Given the description of an element on the screen output the (x, y) to click on. 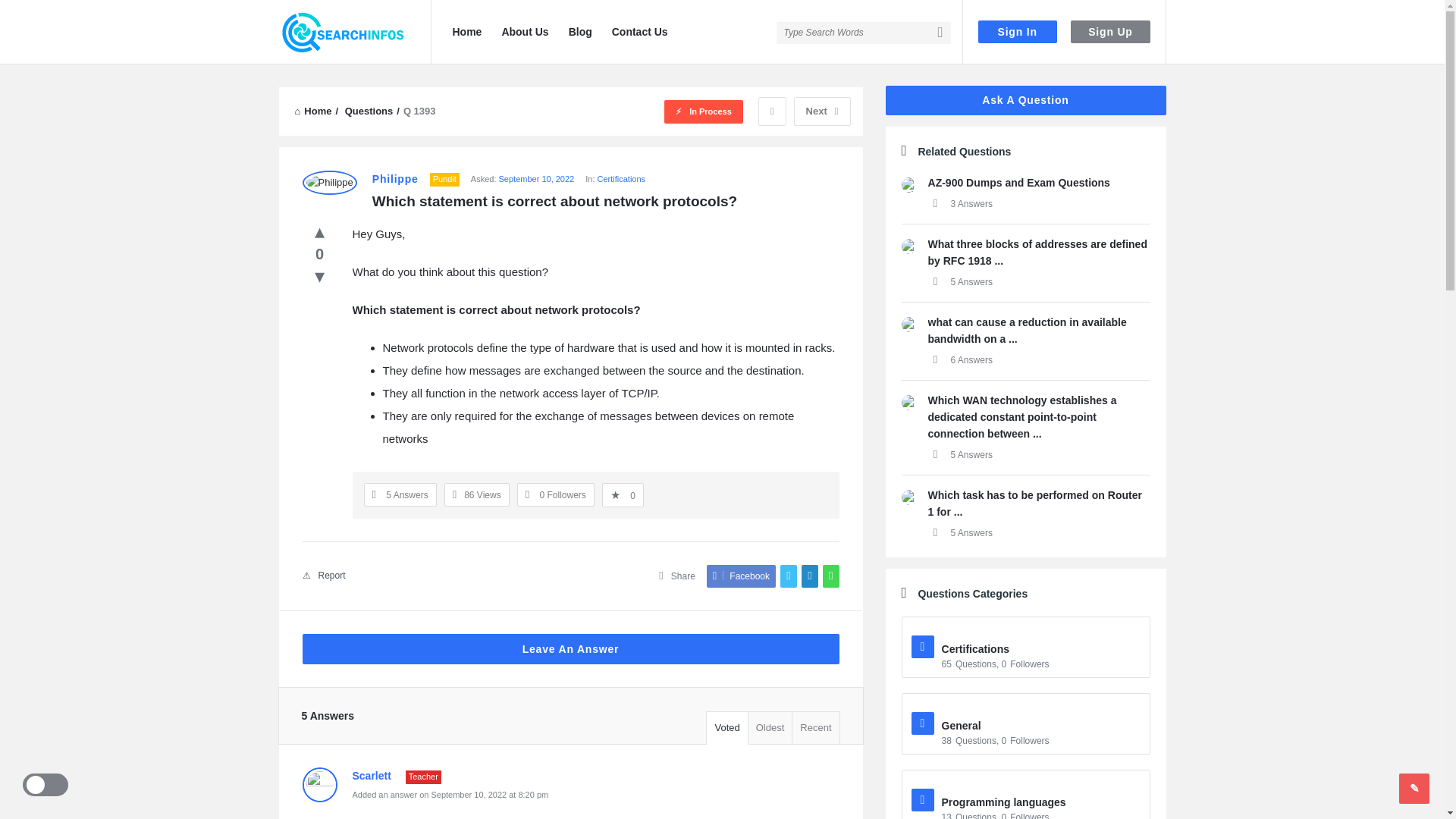
Blog (580, 32)
Questions (369, 111)
Questions (369, 111)
Search infos (342, 32)
Home (466, 32)
Sign Up (1110, 31)
Home (312, 111)
Follow the question (555, 494)
About Us (524, 32)
Contact Us (639, 32)
